Given the description of an element on the screen output the (x, y) to click on. 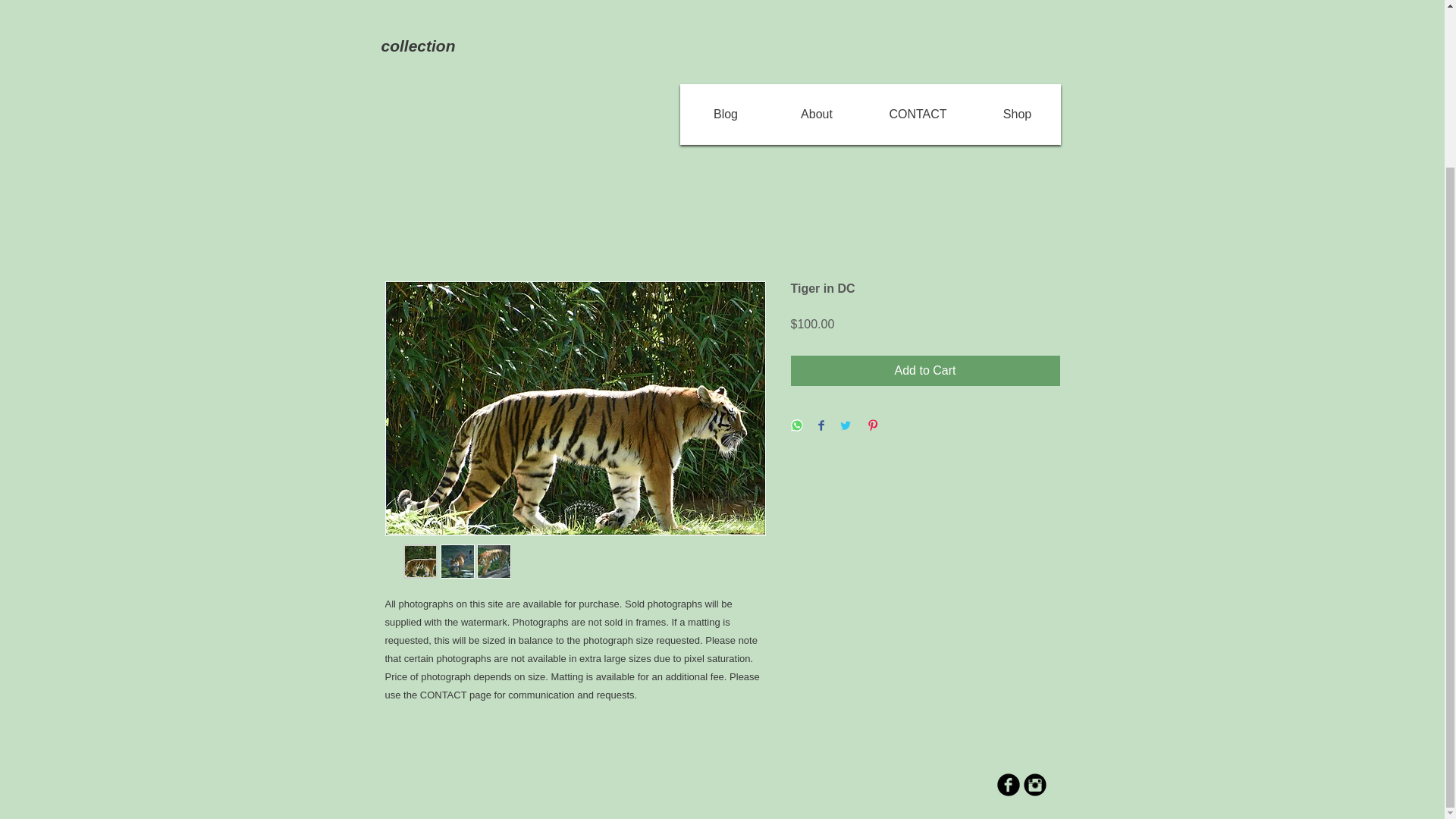
Add to Cart (924, 370)
About (816, 114)
CONTACT (918, 114)
Shop (1016, 114)
Blog (726, 114)
